Given the description of an element on the screen output the (x, y) to click on. 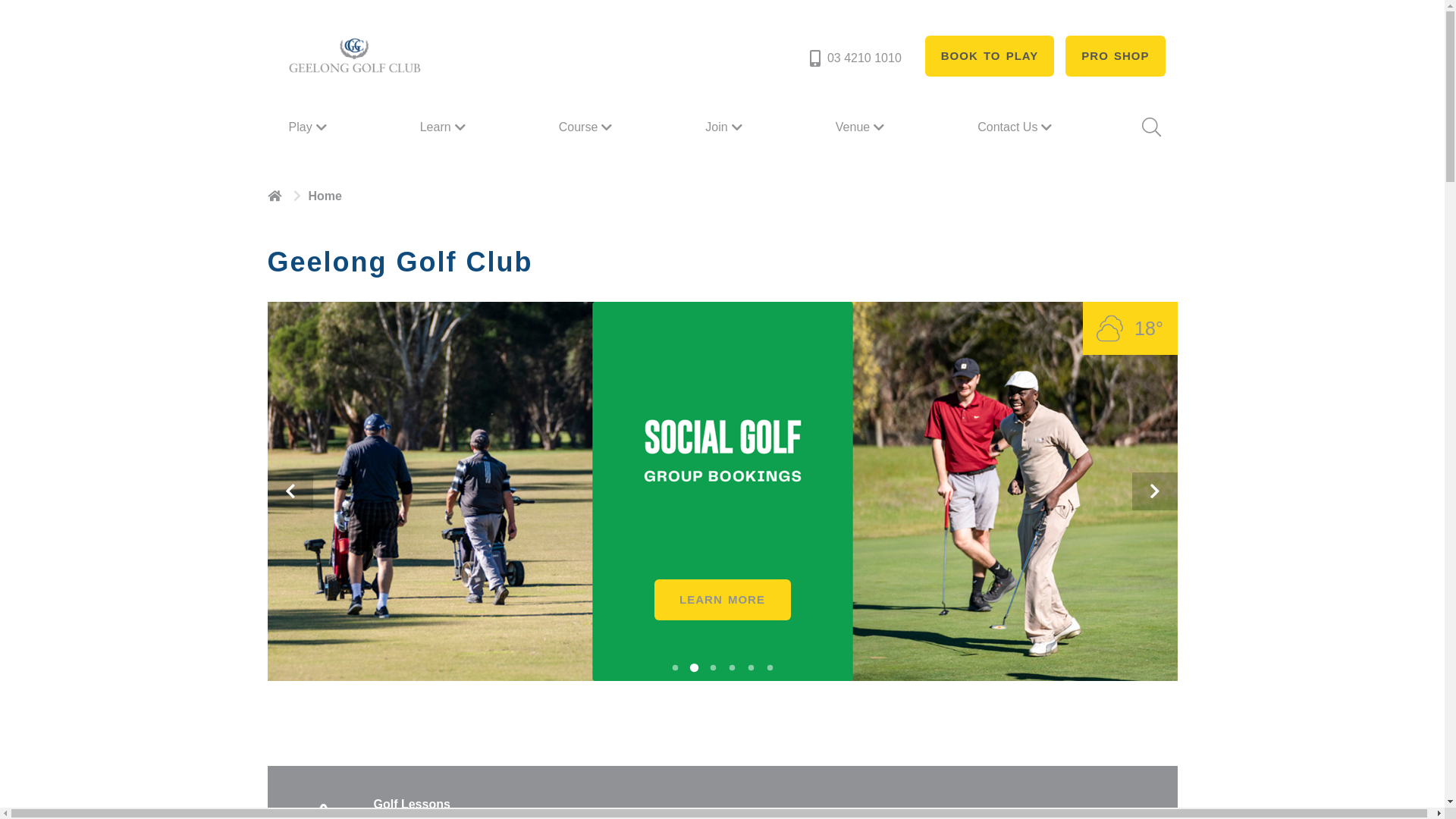
PRO SHOP Element type: text (1114, 55)
Play Element type: text (308, 127)
Search Element type: text (1150, 127)
Join Element type: text (725, 127)
Learn Element type: text (444, 127)
03 4210 1010 Element type: text (853, 58)
Venue Element type: text (861, 127)
LEARN MORE Element type: text (721, 599)
Course Element type: text (587, 127)
Contact Us Element type: text (1016, 127)
Next Element type: text (1153, 491)
  Element type: text (275, 195)
Prev Element type: text (289, 491)
BOOK TO PLAY Element type: text (989, 55)
